Given the description of an element on the screen output the (x, y) to click on. 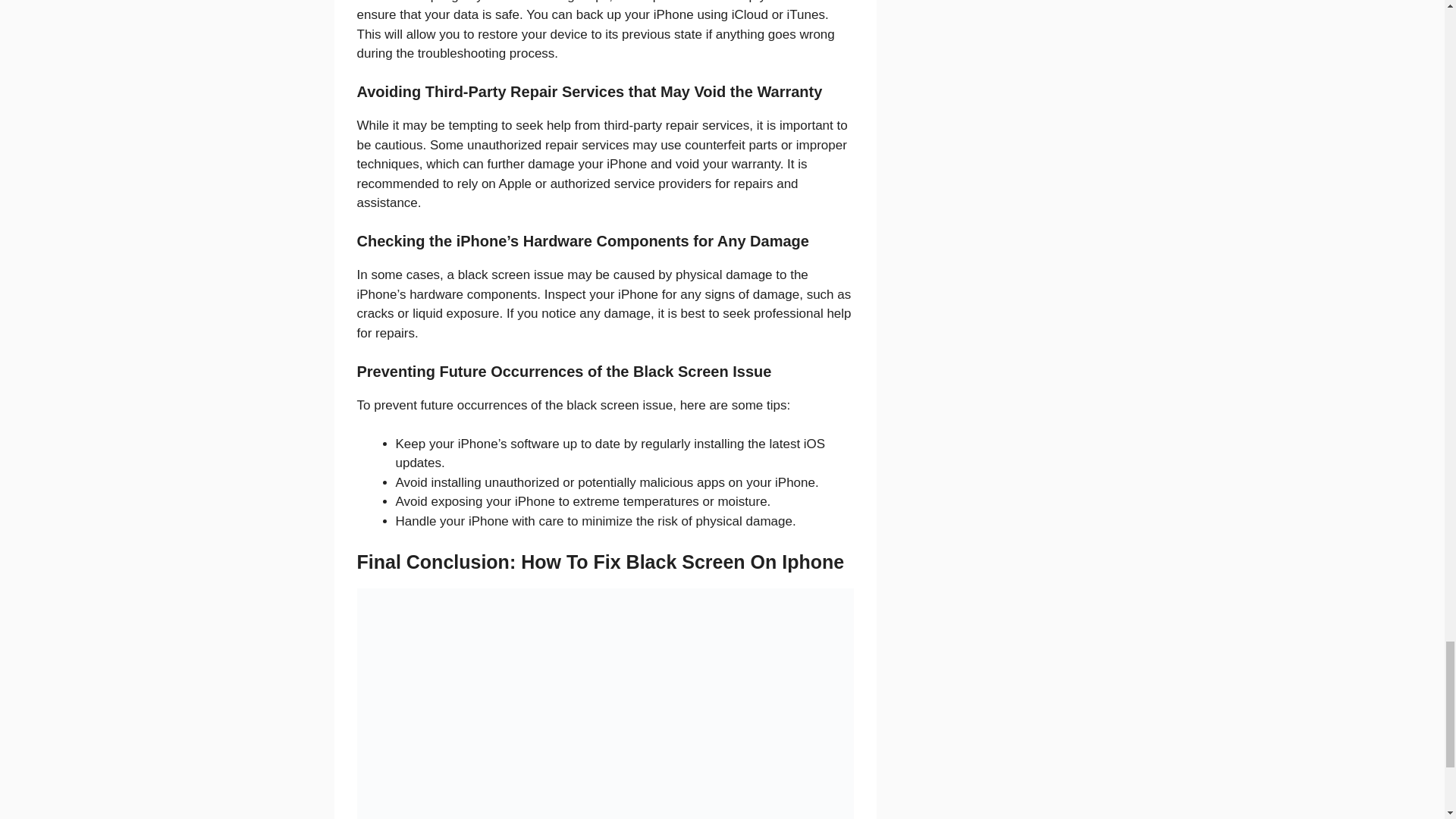
Iphone screen (604, 703)
